Given the description of an element on the screen output the (x, y) to click on. 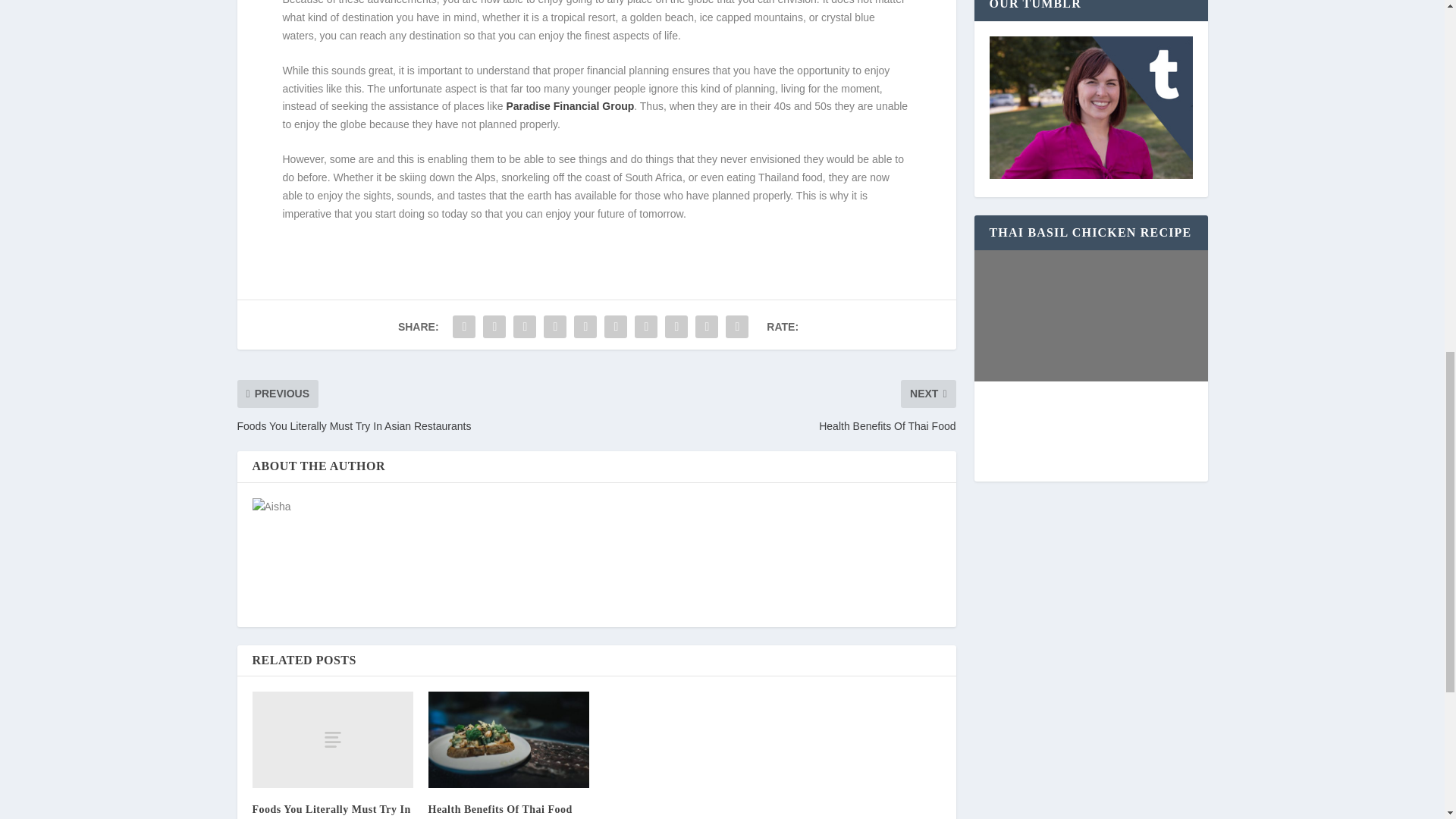
Aisha (396, 506)
Health Benefits Of Thai Food (500, 808)
Paradise Financial Group (569, 105)
